Given the description of an element on the screen output the (x, y) to click on. 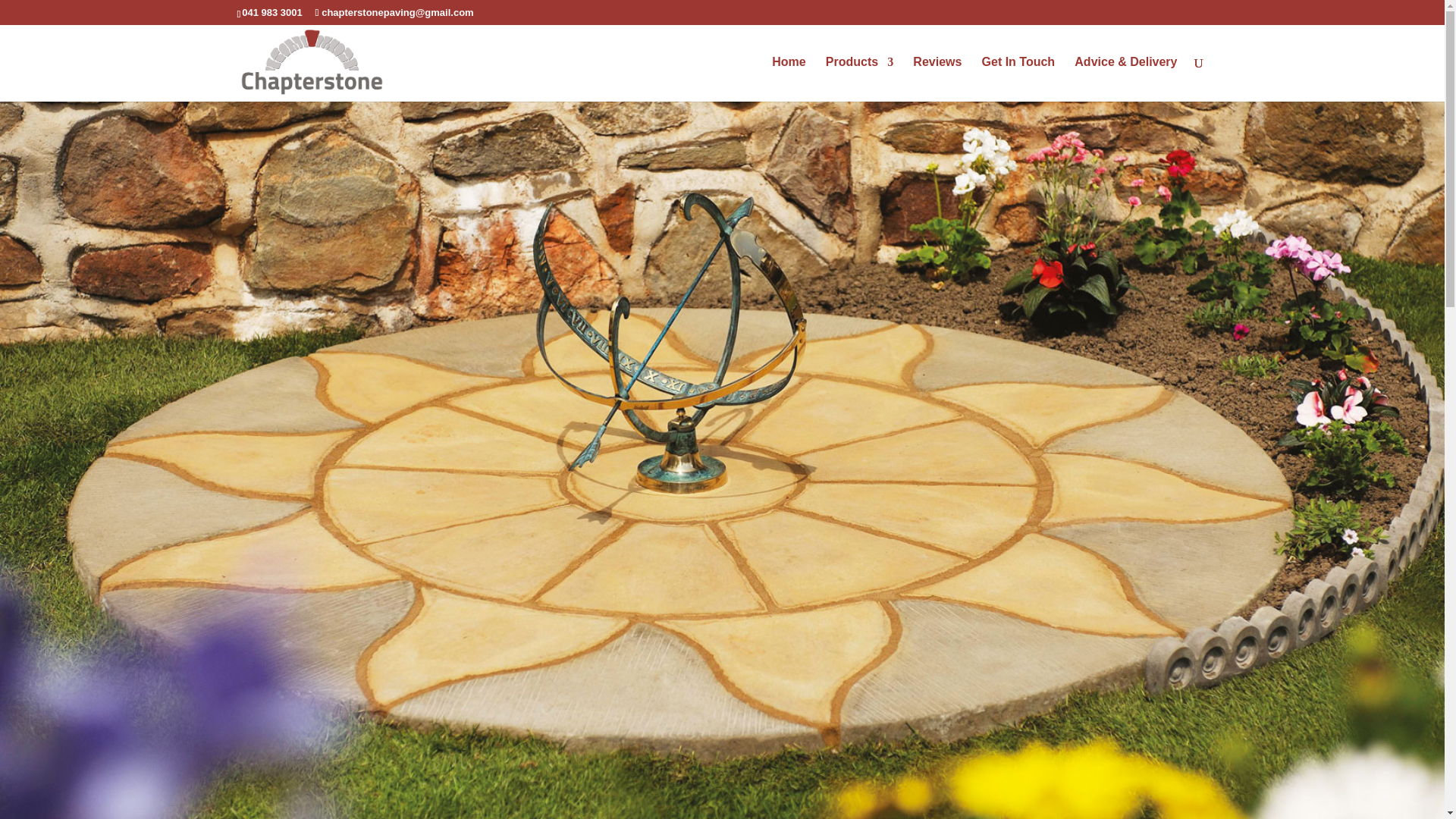
Reviews (936, 78)
Products (859, 78)
Get In Touch (1018, 78)
